Given the description of an element on the screen output the (x, y) to click on. 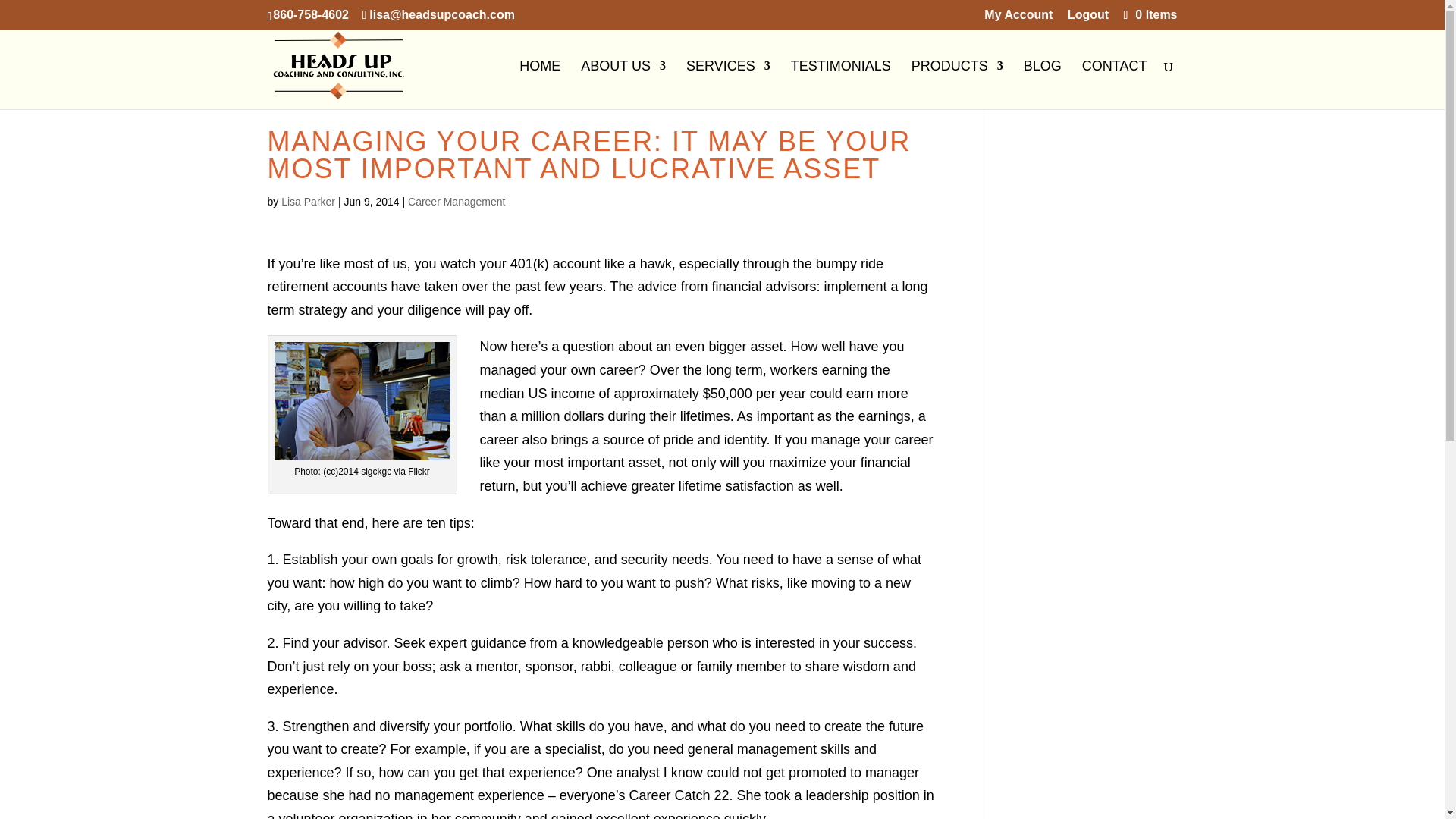
ABOUT US (622, 84)
My Account (1018, 19)
Lisa Parker (307, 201)
Posts by Lisa Parker (307, 201)
TESTIMONIALS (840, 84)
SERVICES (727, 84)
PRODUCTS (957, 84)
Logout (1087, 19)
0 Items (1147, 14)
Career Management (456, 201)
CONTACT (1114, 84)
